Given the description of an element on the screen output the (x, y) to click on. 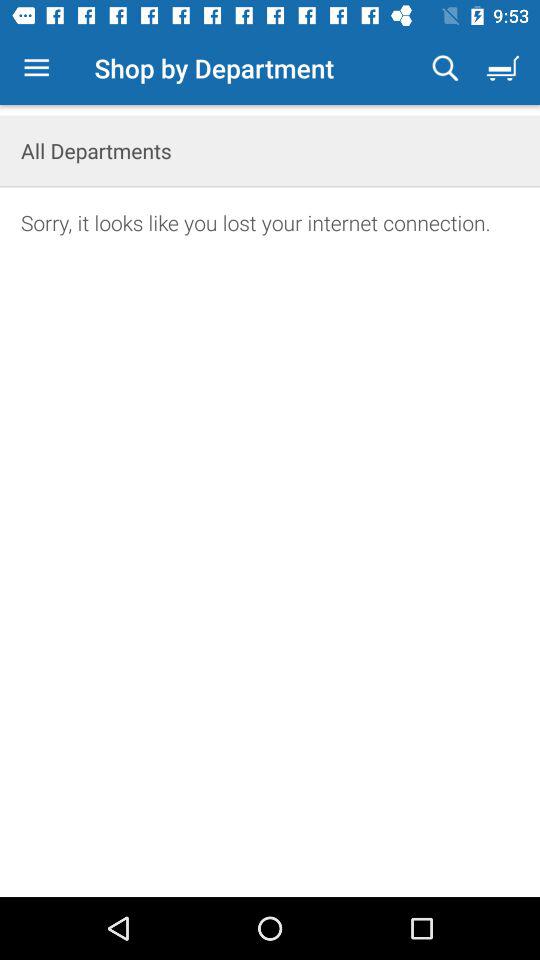
turn on the icon next to the shop by department icon (445, 68)
